Given the description of an element on the screen output the (x, y) to click on. 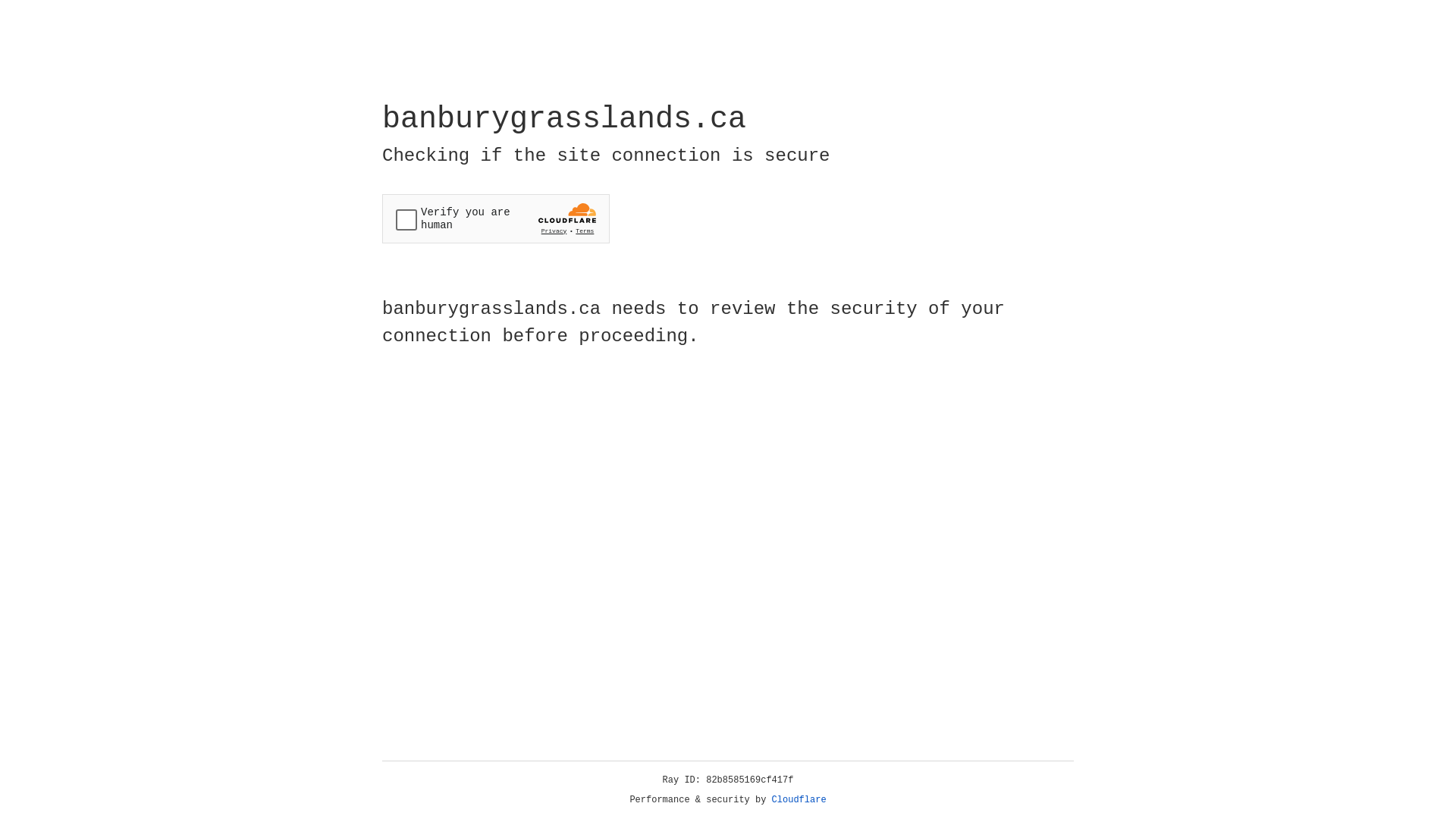
Widget containing a Cloudflare security challenge Element type: hover (495, 218)
Cloudflare Element type: text (798, 799)
